Given the description of an element on the screen output the (x, y) to click on. 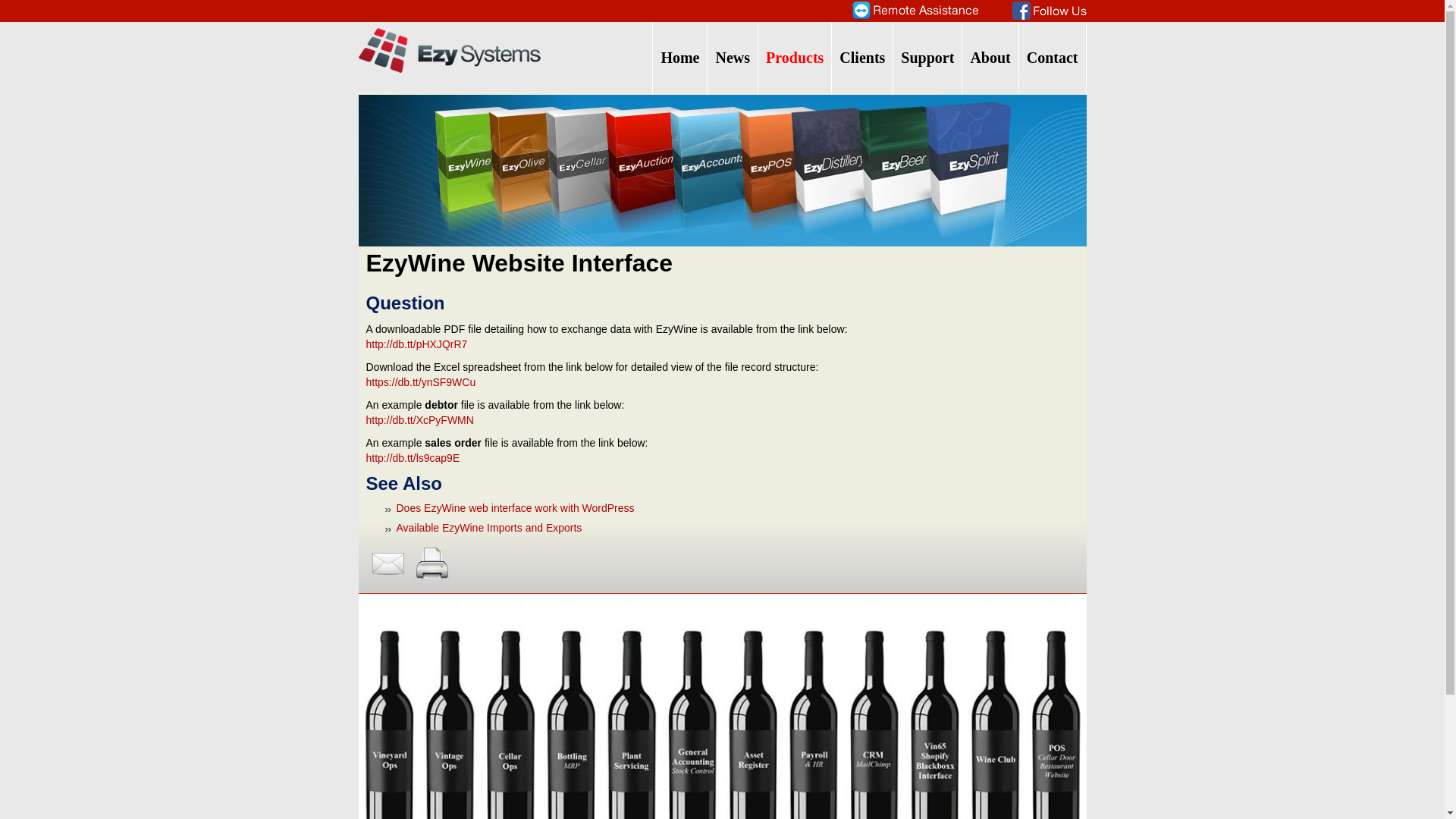
Contact Element type: text (1052, 58)
News Element type: text (732, 58)
Home Element type: text (679, 58)
http://db.tt/ls9cap9E Element type: text (412, 457)
Print Element type: hover (432, 563)
http://db.tt/XcPyFWMN Element type: text (419, 420)
Clients Element type: text (861, 58)
https://db.tt/ynSF9WCu Element type: text (420, 382)
Mail Element type: hover (388, 563)
http://db.tt/pHXJQrR7 Element type: text (416, 344)
Products Element type: text (794, 58)
Support Element type: text (927, 58)
Available EzyWine Imports and Exports Element type: text (488, 527)
Does EzyWine web interface work with WordPress Element type: text (514, 508)
About Element type: text (989, 58)
